Given the description of an element on the screen output the (x, y) to click on. 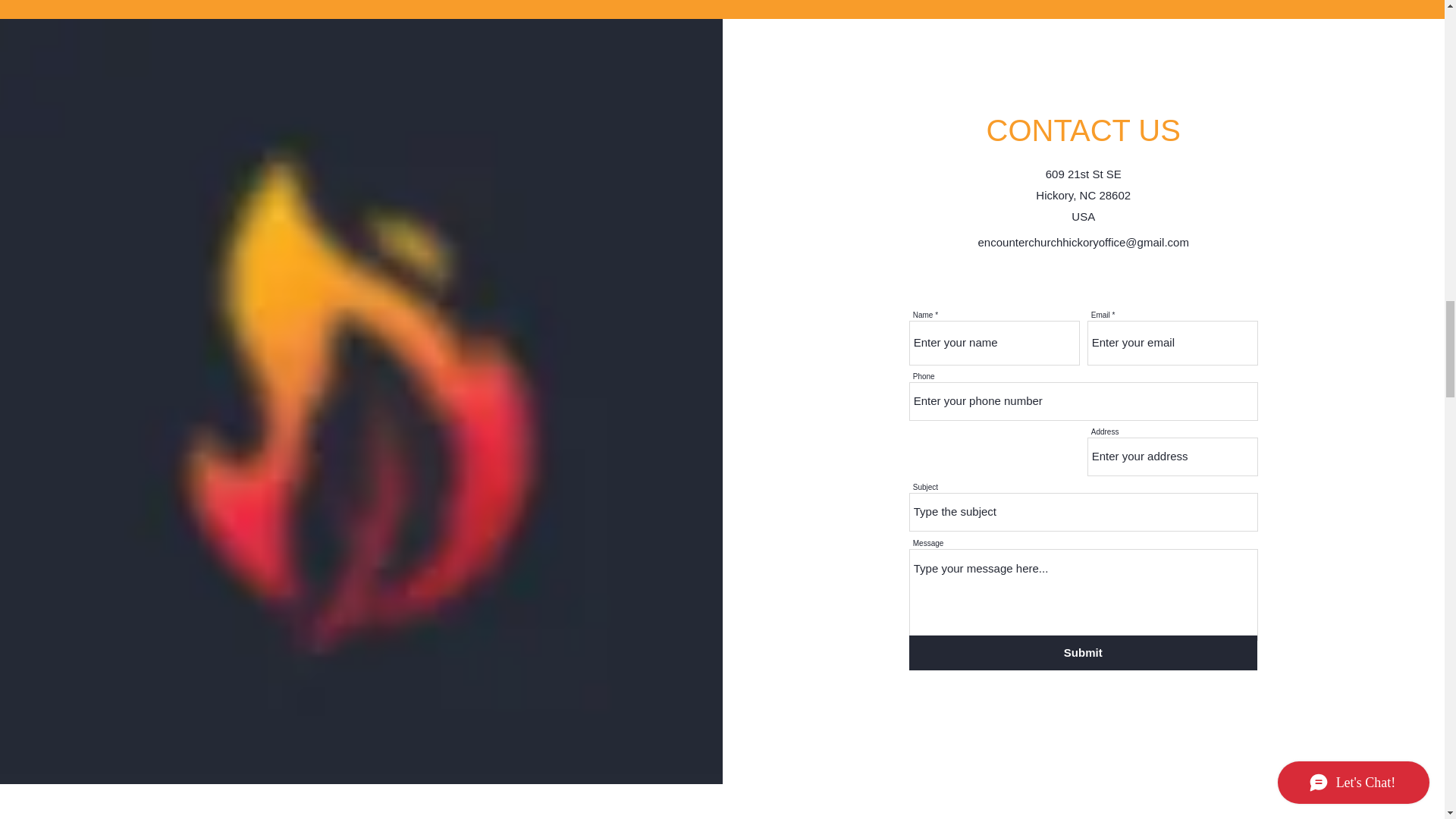
Submit (1082, 652)
